Given the description of an element on the screen output the (x, y) to click on. 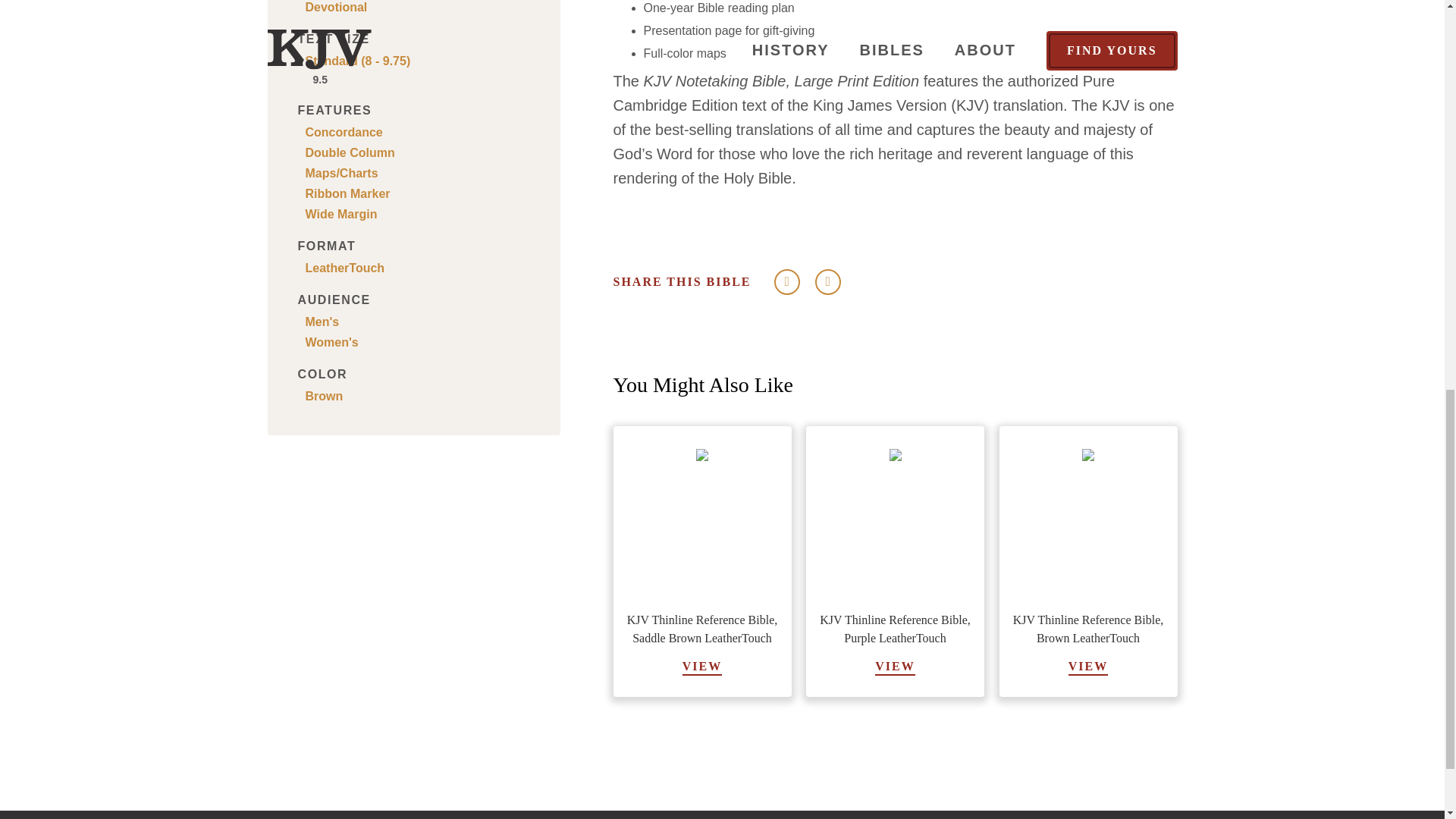
Women's (416, 342)
Brown (416, 396)
Ribbon Marker (416, 193)
Devotional (416, 7)
Double Column (416, 152)
Twitter (786, 281)
LeatherTouch (416, 268)
Wide Margin (416, 214)
Facebook (826, 281)
Concordance (416, 132)
Men's (416, 321)
